Given the description of an element on the screen output the (x, y) to click on. 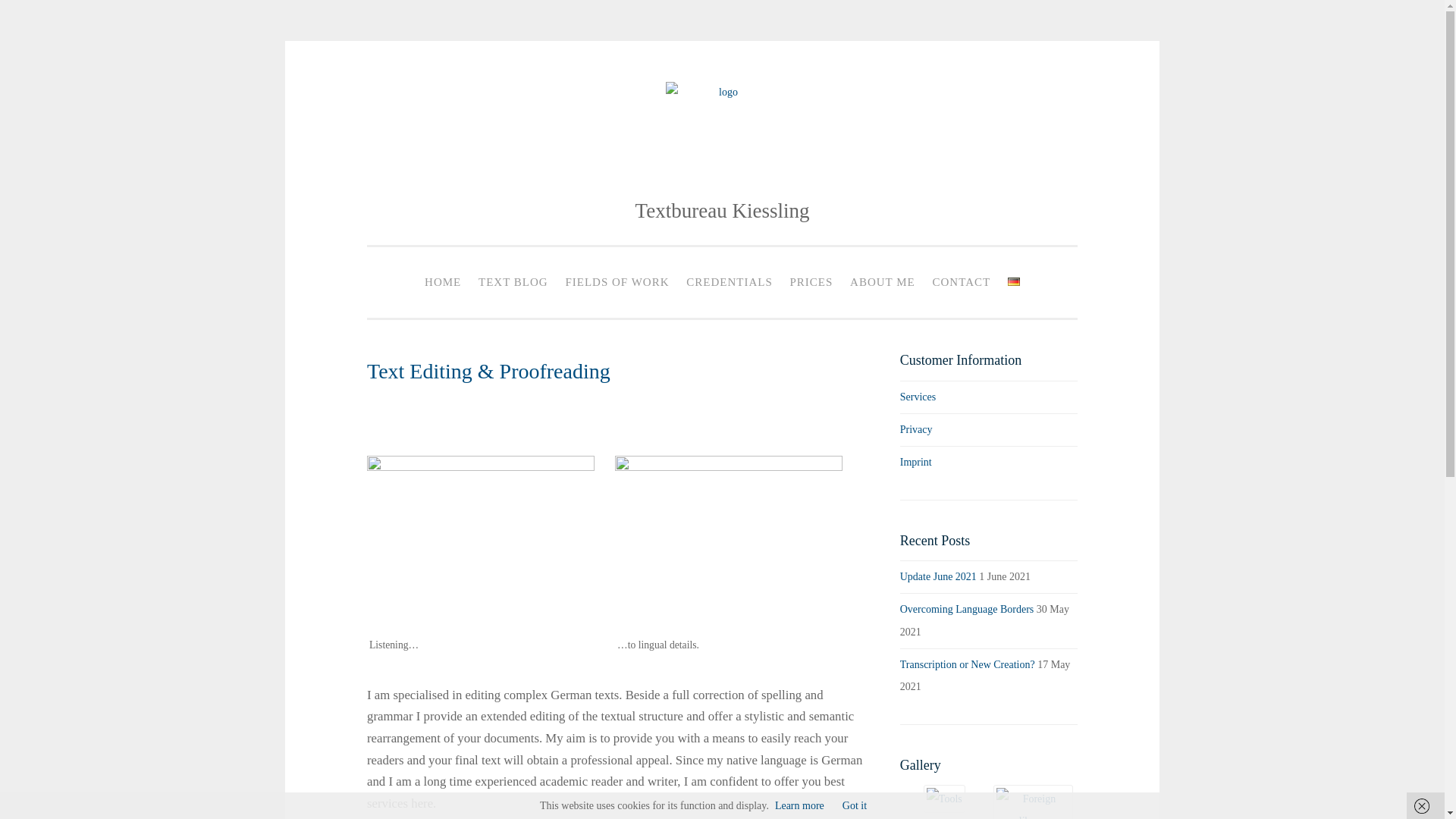
Got it (854, 805)
Privacy (916, 429)
PRICES (811, 282)
Search (39, 16)
Imprint (915, 461)
Learn more (799, 805)
Transcription or New Creation? (967, 664)
TEXT BLOG (512, 282)
CREDENTIALS (728, 282)
